Given the description of an element on the screen output the (x, y) to click on. 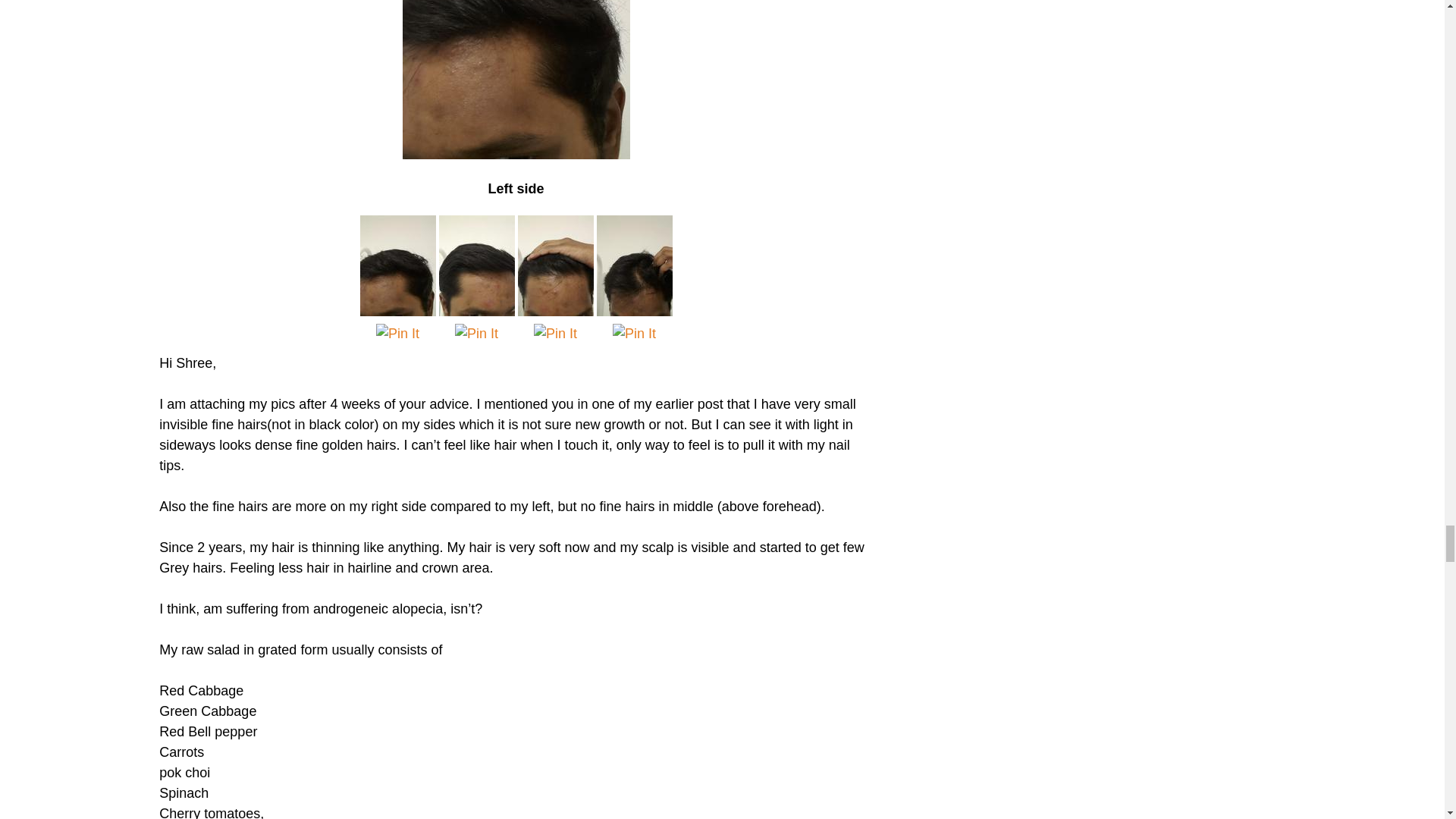
Pin It (634, 333)
Pin It (475, 333)
Left side (514, 79)
Pin It (555, 333)
Pin It (397, 333)
